Given the description of an element on the screen output the (x, y) to click on. 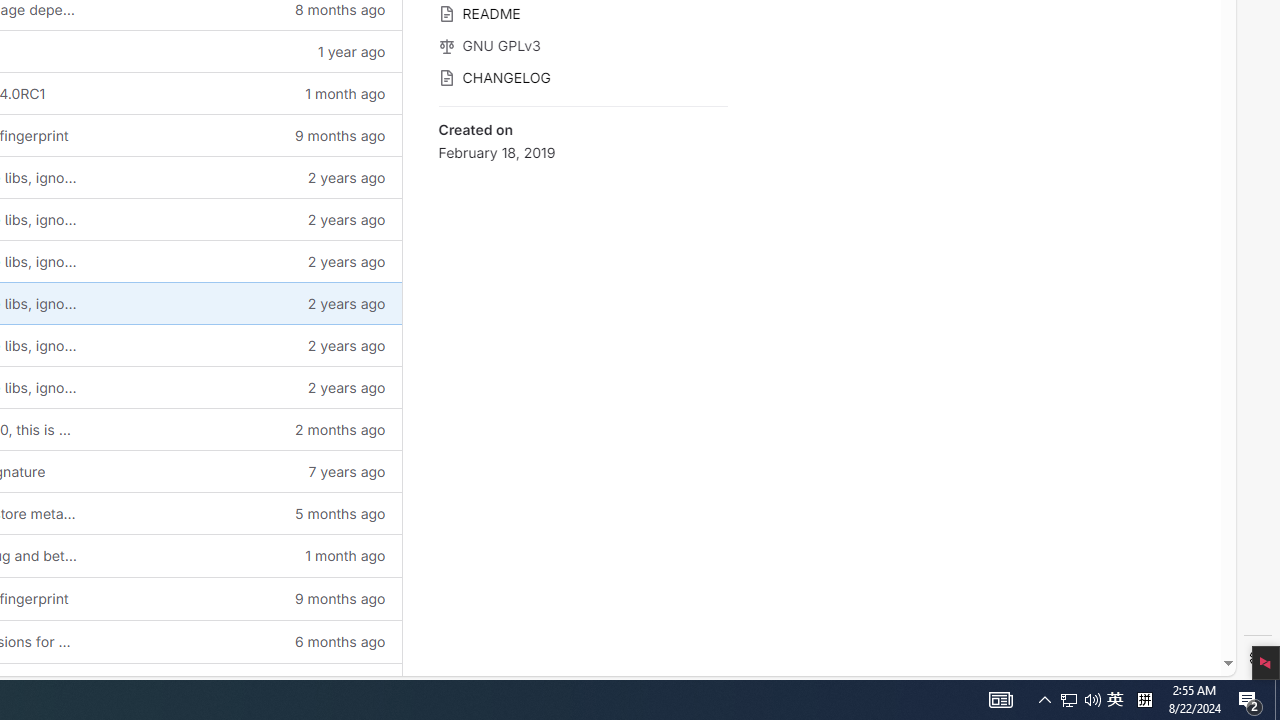
2 months ago (247, 429)
CHANGELOG (582, 75)
9 months ago (247, 598)
6 months ago (247, 641)
GNU GPLv3 (582, 44)
GNU GPLv3 (582, 44)
1 month ago (247, 556)
CHANGELOG (582, 75)
5 months ago (247, 512)
Class: s16 icon gl-mr-3 gl-text-gray-500 (445, 77)
7 years ago (247, 471)
1 year ago (247, 684)
2 years ago (247, 386)
